Given the description of an element on the screen output the (x, y) to click on. 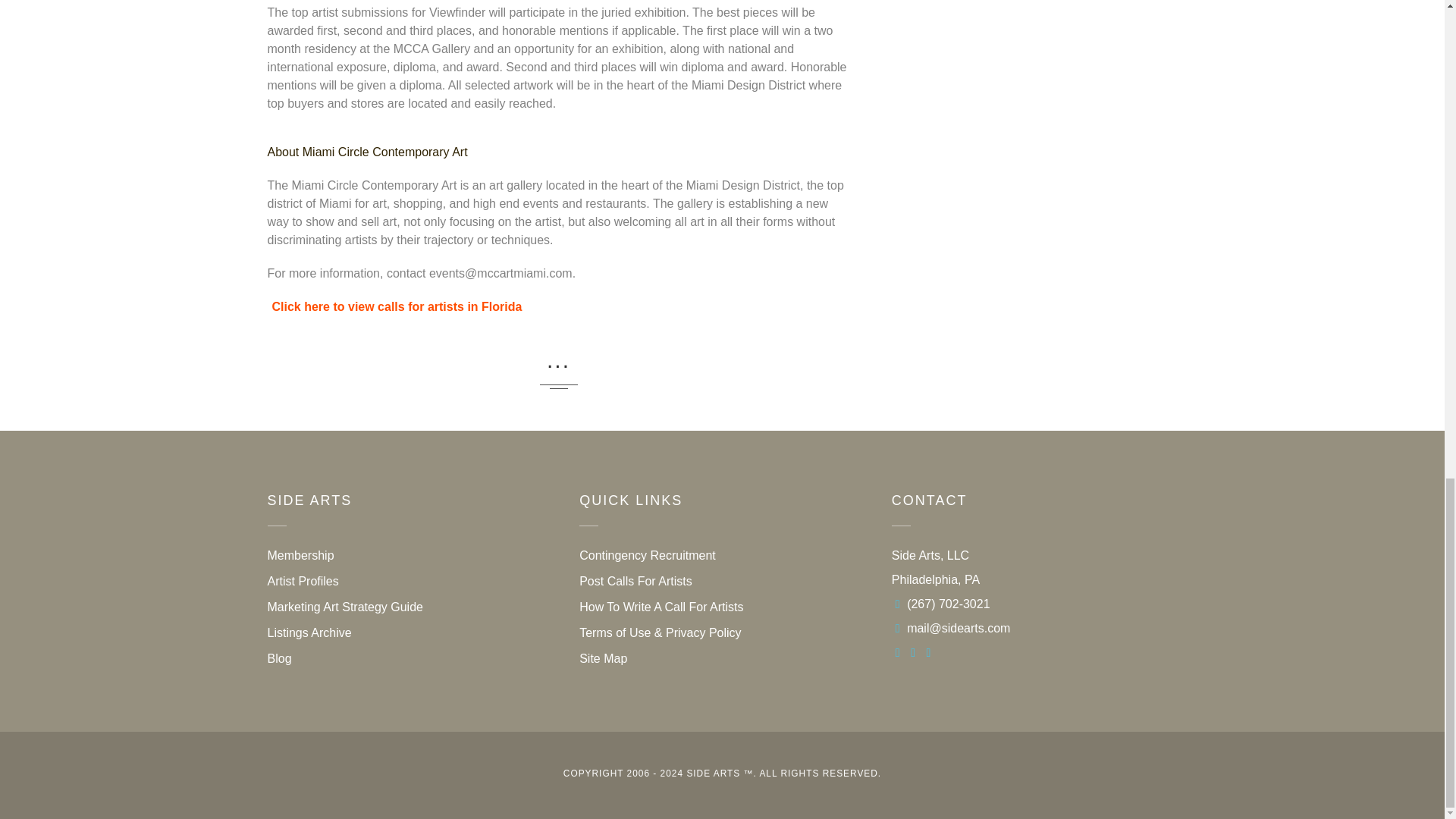
Contingency Recruitment (647, 554)
Artist Profiles (301, 581)
Site Map (603, 658)
Listings Archive (308, 632)
How To Write A Call For Artists (660, 606)
Marketing Art Strategy Guide (344, 606)
Click here to view calls for artists in Florida (395, 306)
Post Calls For Artists (635, 581)
Blog (278, 658)
Membership (299, 554)
